Given the description of an element on the screen output the (x, y) to click on. 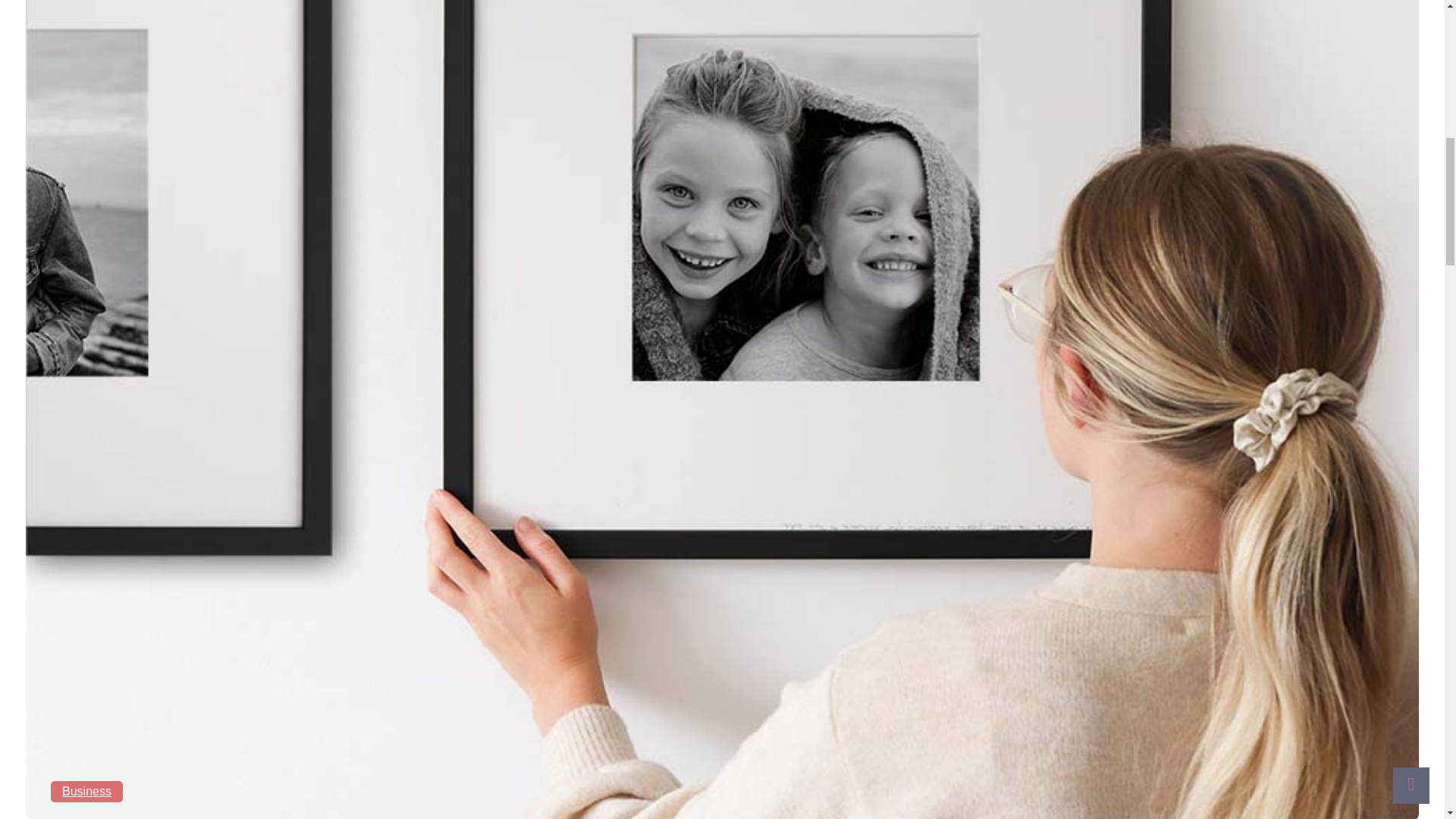
Business (86, 791)
